Given the description of an element on the screen output the (x, y) to click on. 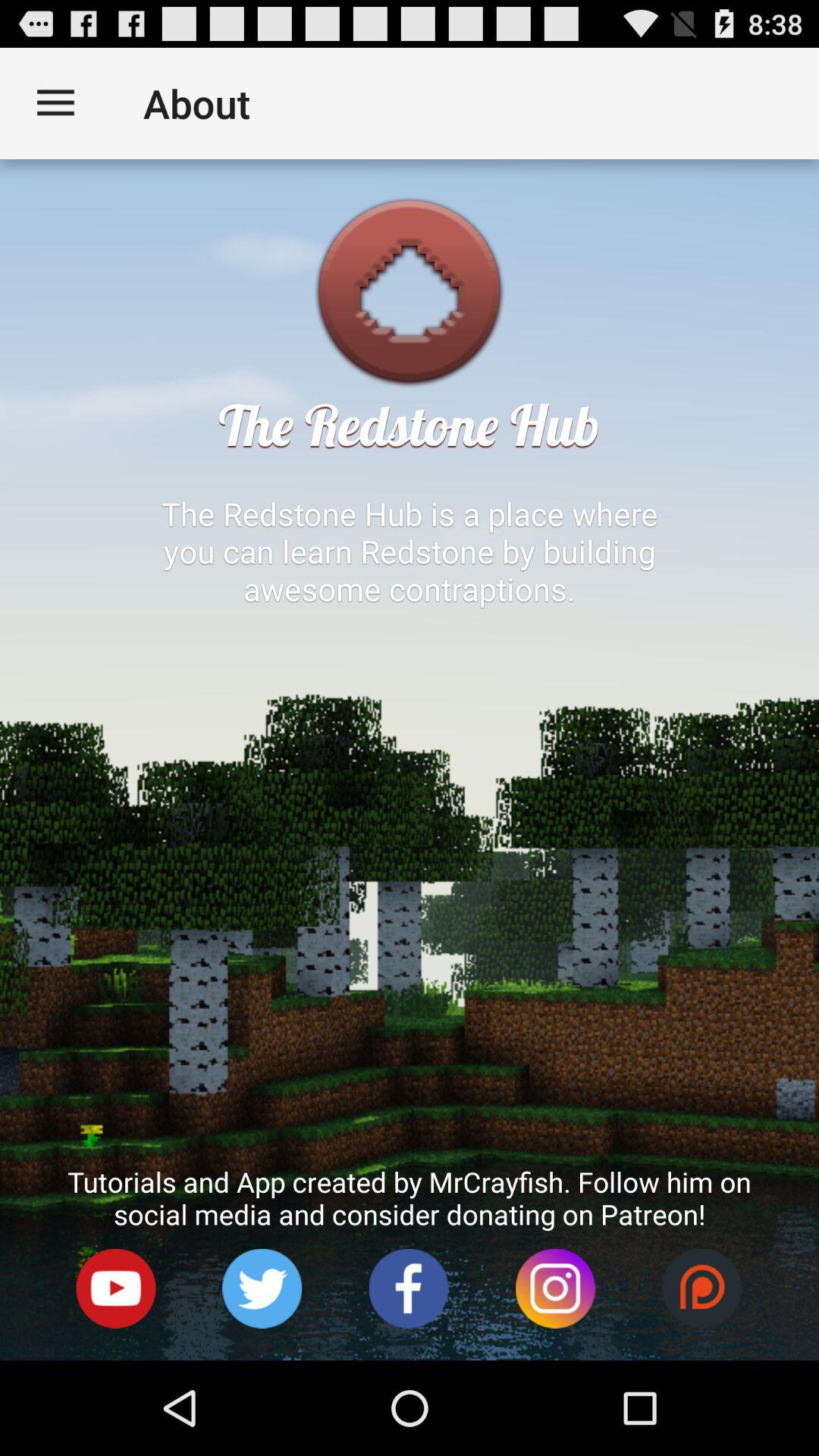
tap icon below tutorials and app item (555, 1288)
